Given the description of an element on the screen output the (x, y) to click on. 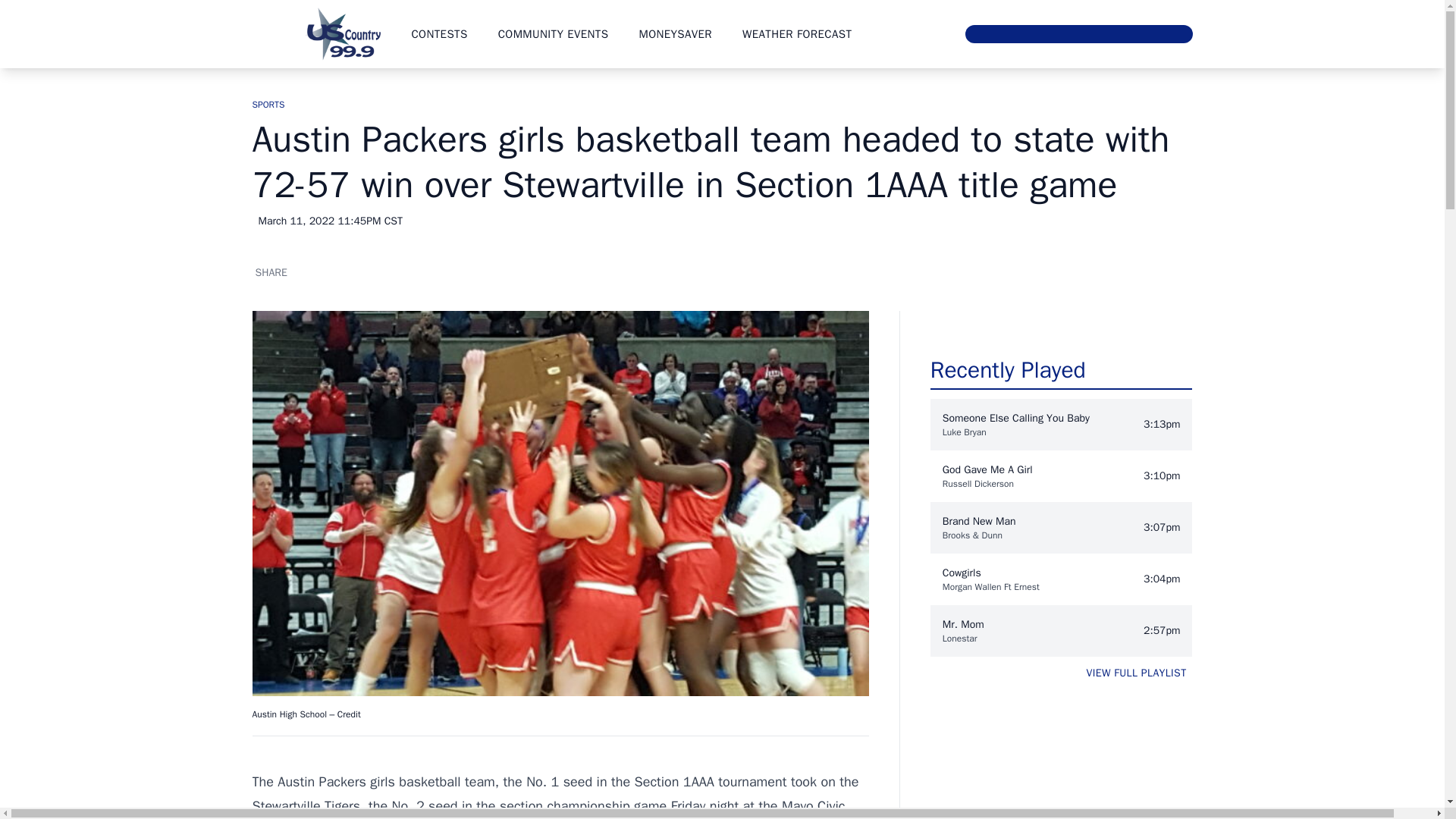
COMMUNITY EVENTS (552, 33)
WEATHER FORECAST (796, 33)
MONEYSAVER (675, 33)
